Given the description of an element on the screen output the (x, y) to click on. 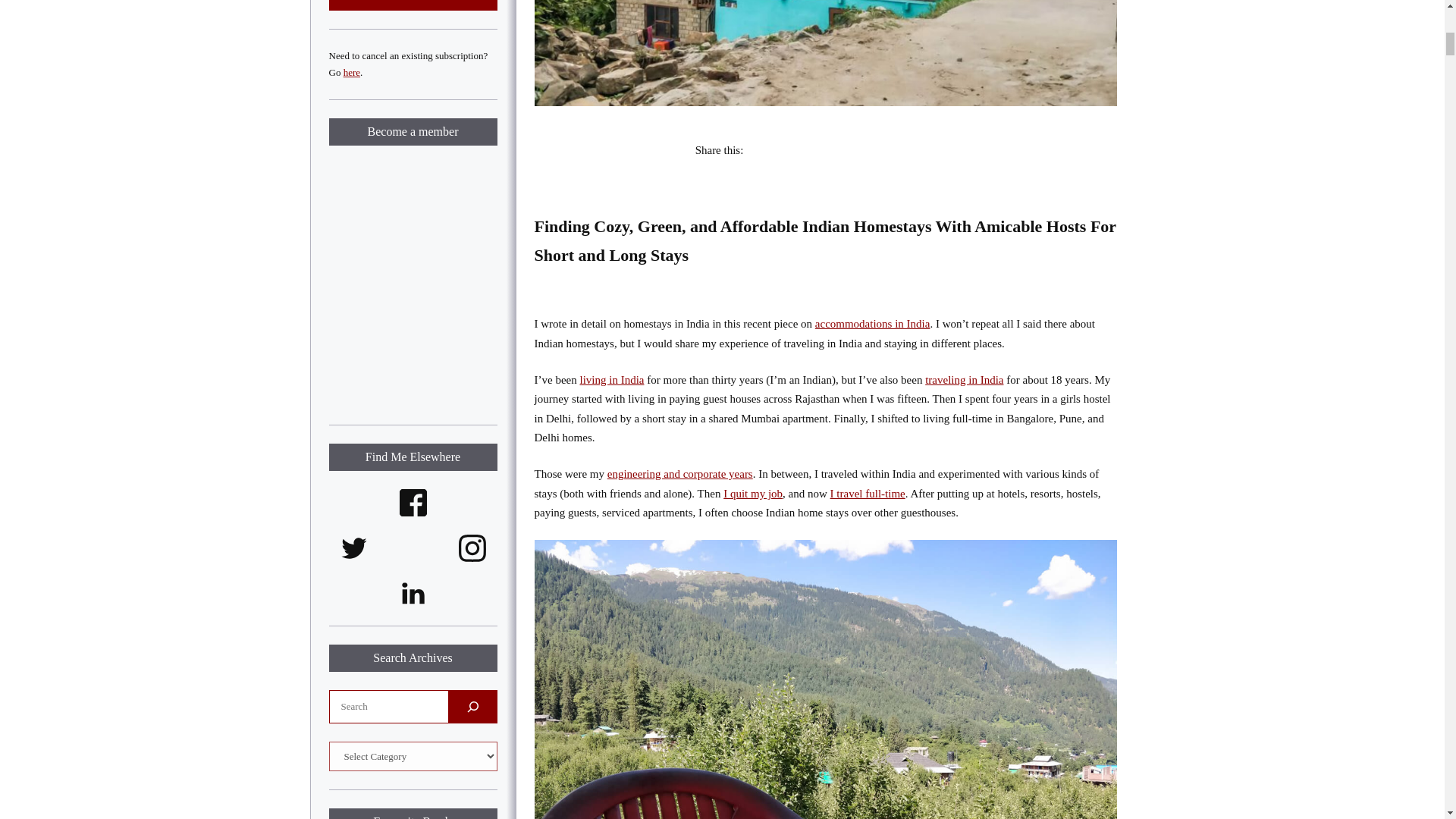
Twitter (833, 150)
Pocket (773, 150)
Facebook (803, 150)
living in India (611, 379)
WhatsApp (924, 150)
I quit my job (753, 493)
engineering and corporate years (679, 473)
Pinterest (863, 150)
accommodations in India (872, 323)
traveling in India (963, 379)
Reddit (894, 150)
